Given the description of an element on the screen output the (x, y) to click on. 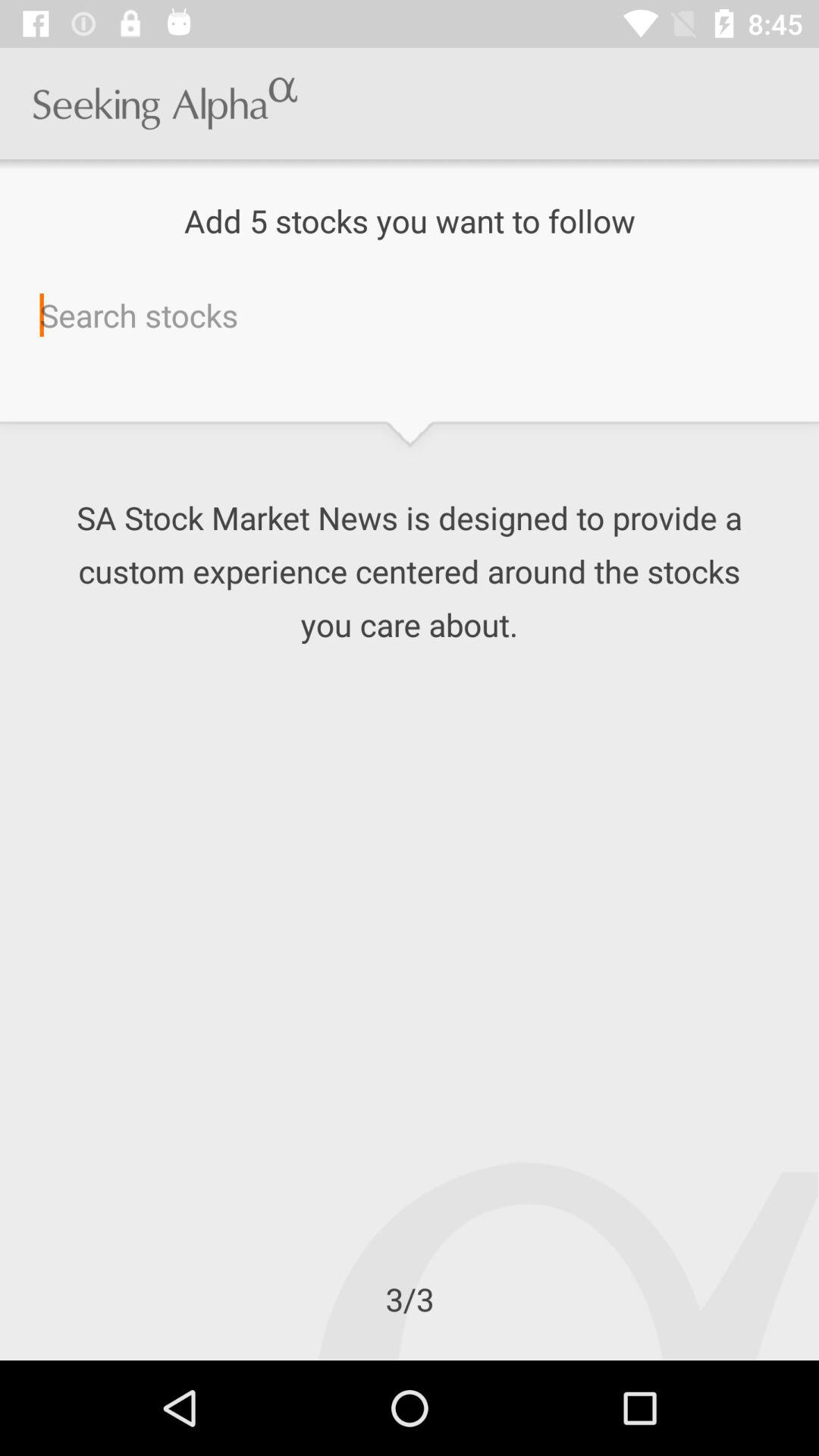
open icon below add 5 stocks (409, 315)
